Given the description of an element on the screen output the (x, y) to click on. 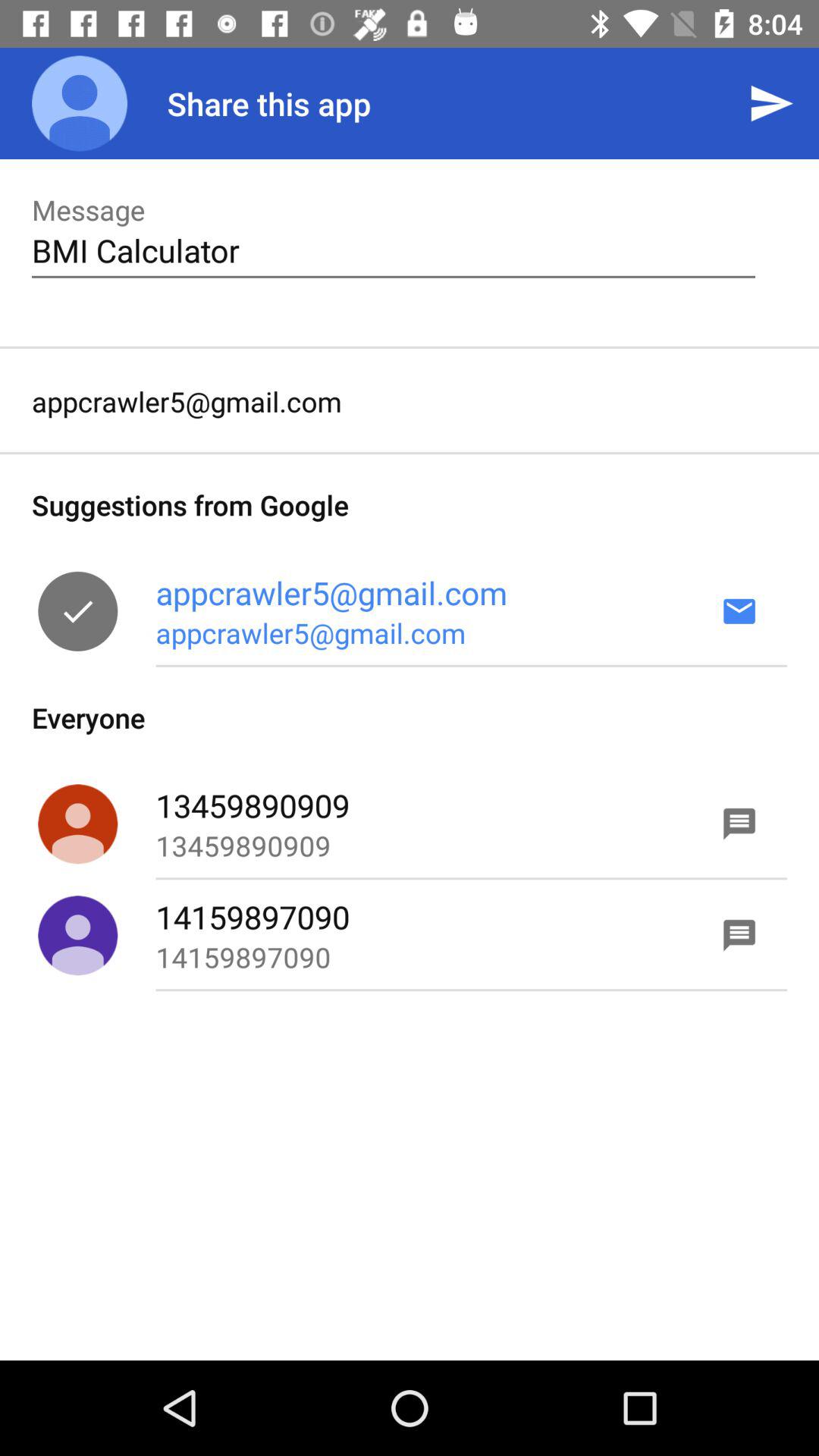
choose the icon next to the share this app app (79, 103)
